Given the description of an element on the screen output the (x, y) to click on. 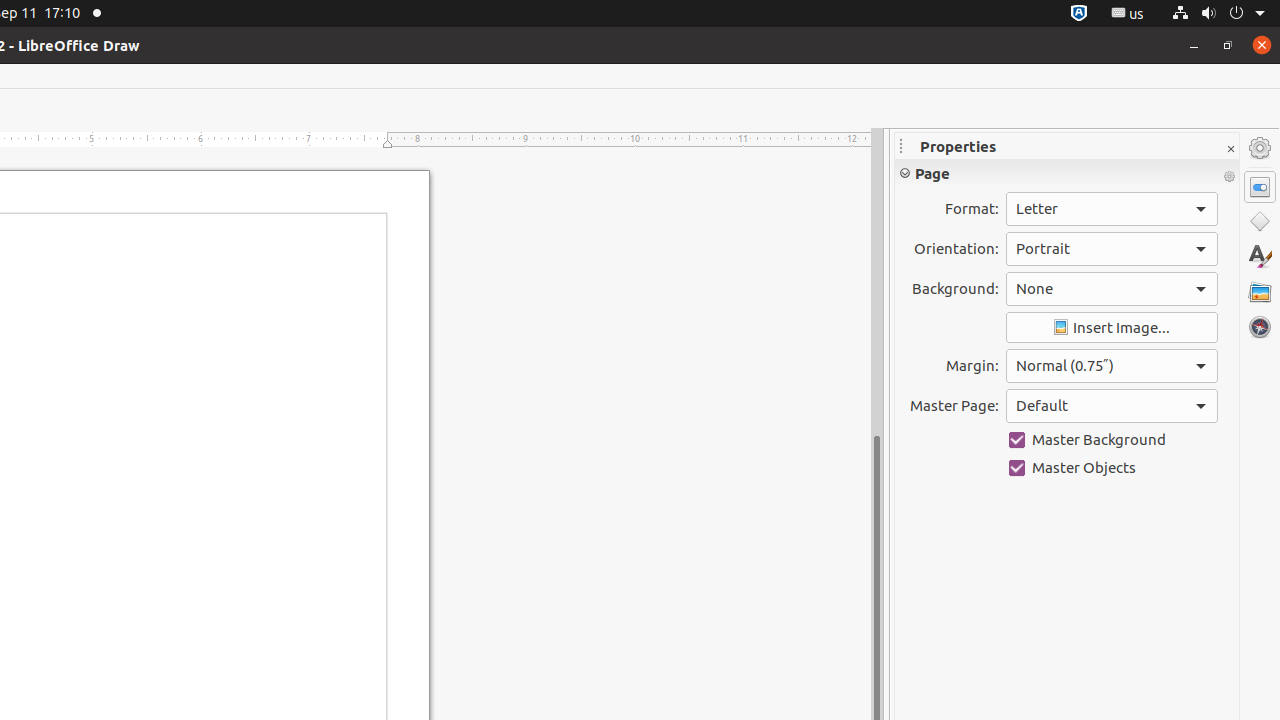
System Element type: menu (1218, 13)
Format: Element type: combo-box (1112, 209)
Margin: Element type: combo-box (1112, 366)
Styles Element type: radio-button (1260, 256)
Background: Element type: combo-box (1112, 289)
